Given the description of an element on the screen output the (x, y) to click on. 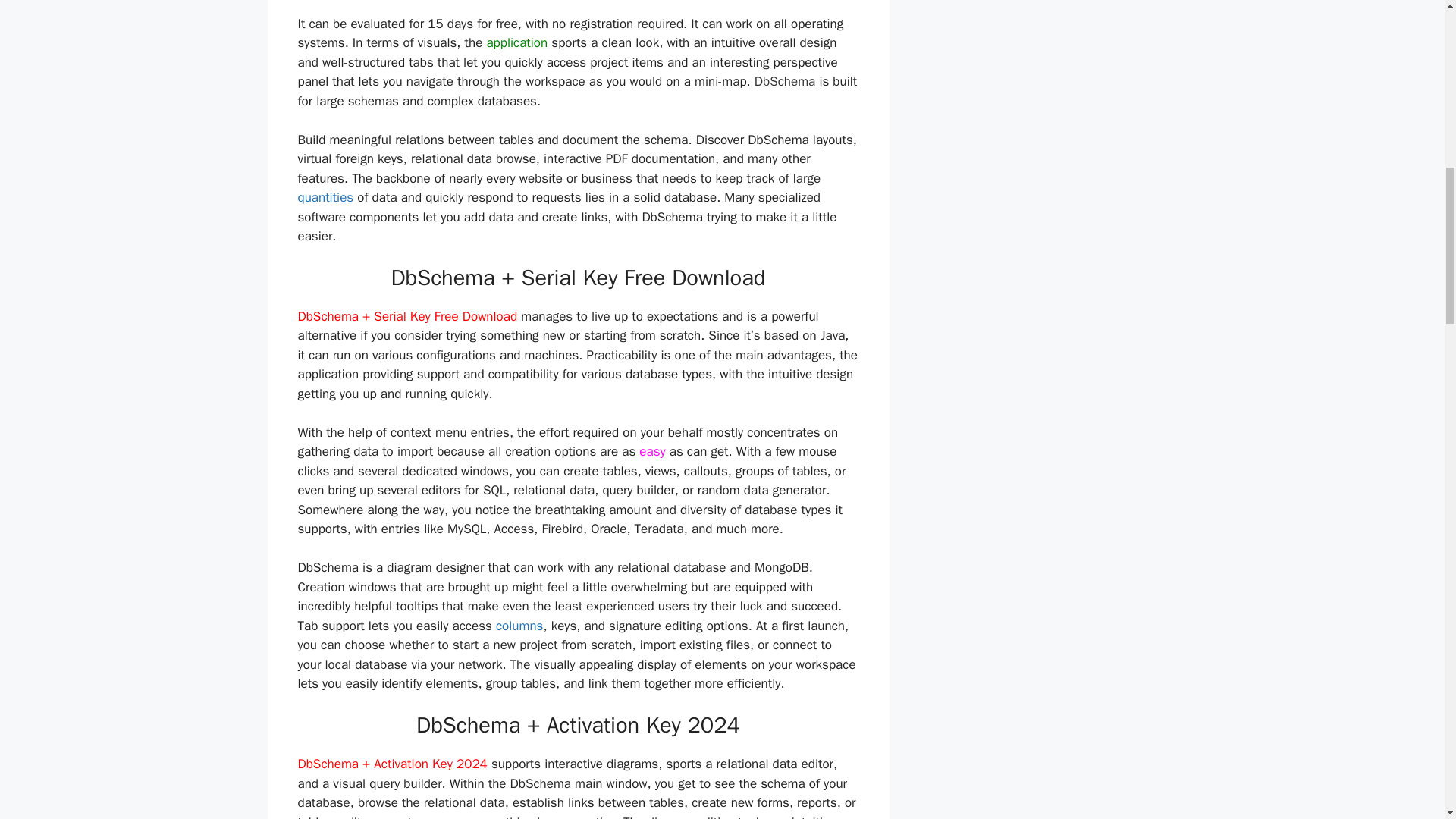
application (516, 42)
easy (652, 451)
columns (519, 625)
quantities (325, 197)
